Given the description of an element on the screen output the (x, y) to click on. 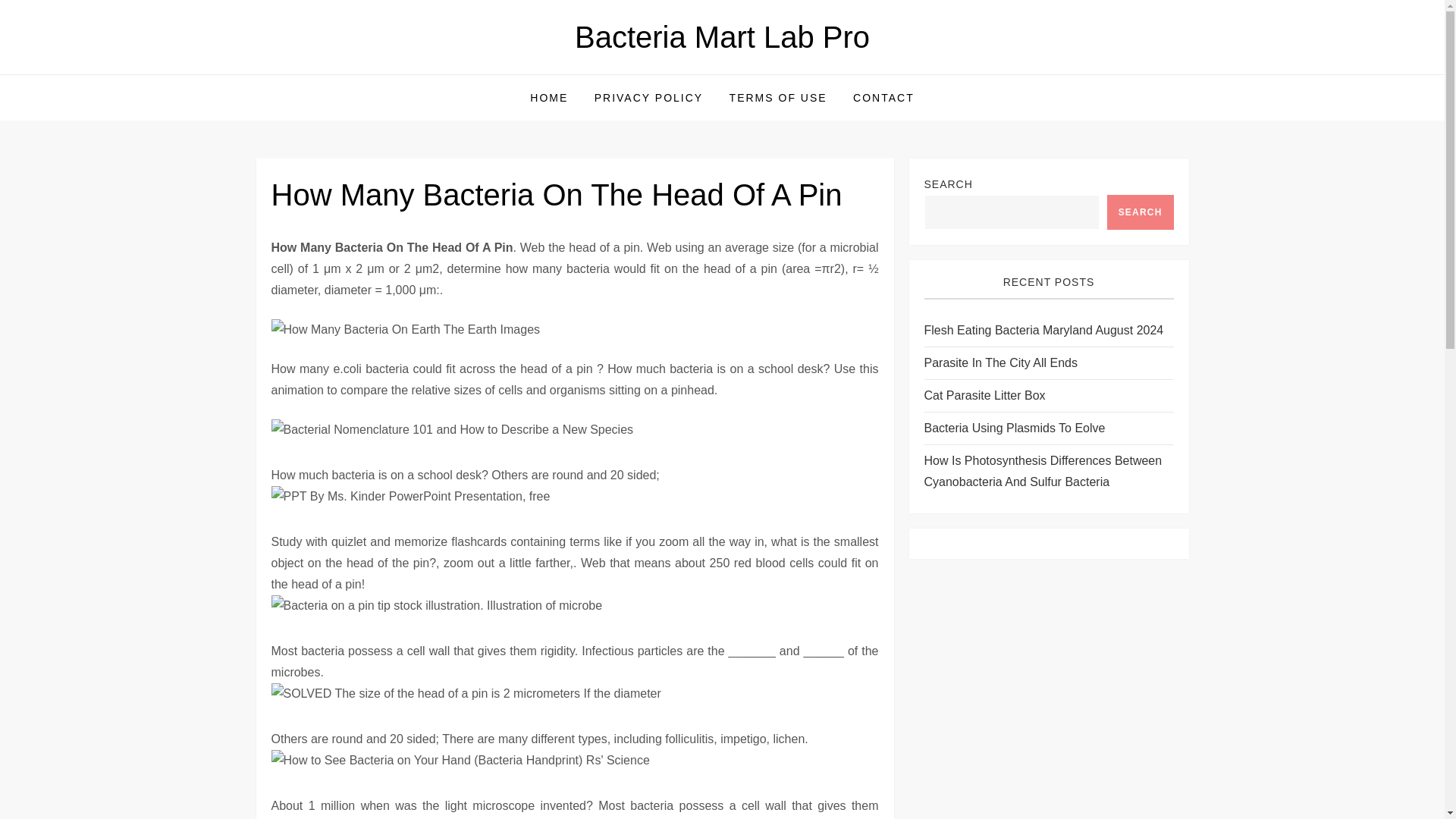
Cat Parasite Litter Box (984, 395)
HOME (548, 97)
Bacteria Using Plasmids To Eolve (1014, 427)
Parasite In The City All Ends (1000, 362)
PRIVACY POLICY (648, 97)
TERMS OF USE (777, 97)
SEARCH (1139, 212)
CONTACT (883, 97)
Flesh Eating Bacteria Maryland August 2024 (1043, 330)
